Given the description of an element on the screen output the (x, y) to click on. 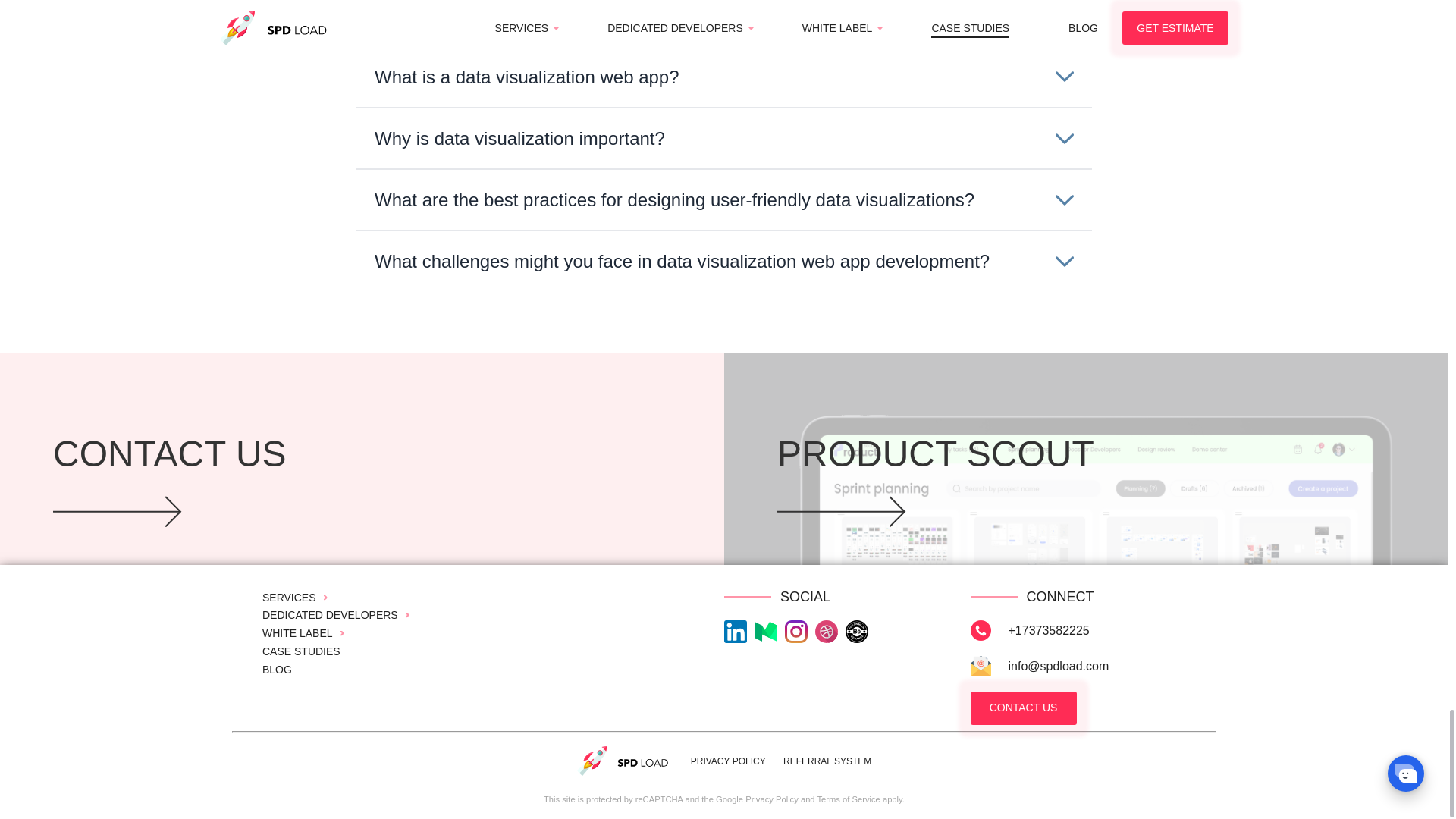
SERVICES (301, 597)
DEDICATED DEVELOPERS (342, 614)
WHITE LABEL (309, 633)
